Given the description of an element on the screen output the (x, y) to click on. 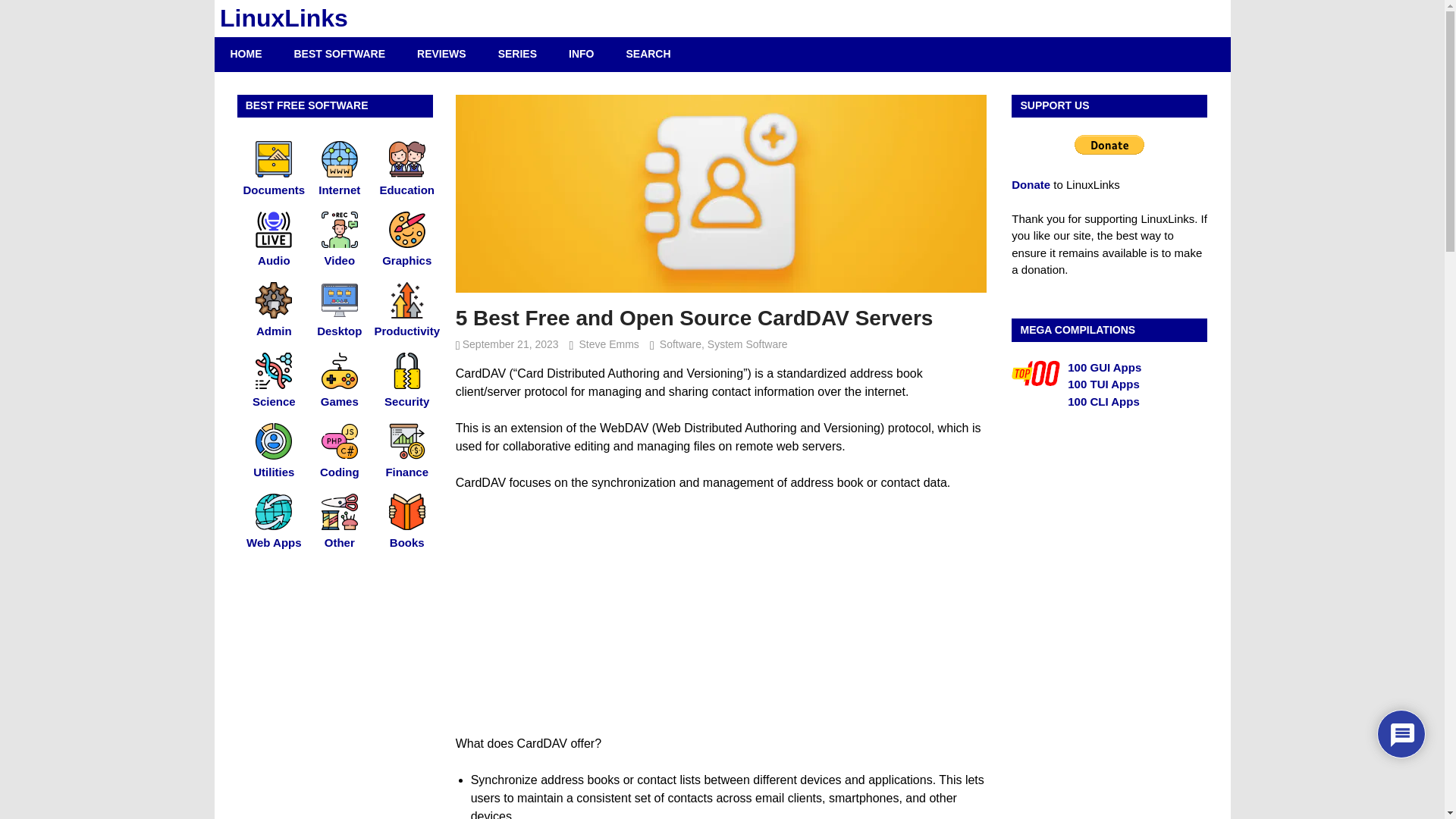
BEST SOFTWARE (339, 53)
REVIEWS (441, 53)
3:40 pm (511, 344)
September 21, 2023 (511, 344)
SERIES (517, 53)
HOME (246, 53)
INFO (581, 53)
LinuxLinks (283, 17)
SEARCH (647, 53)
Software (680, 344)
View all posts by Steve Emms (609, 344)
Steve Emms (609, 344)
System Software (747, 344)
